Given the description of an element on the screen output the (x, y) to click on. 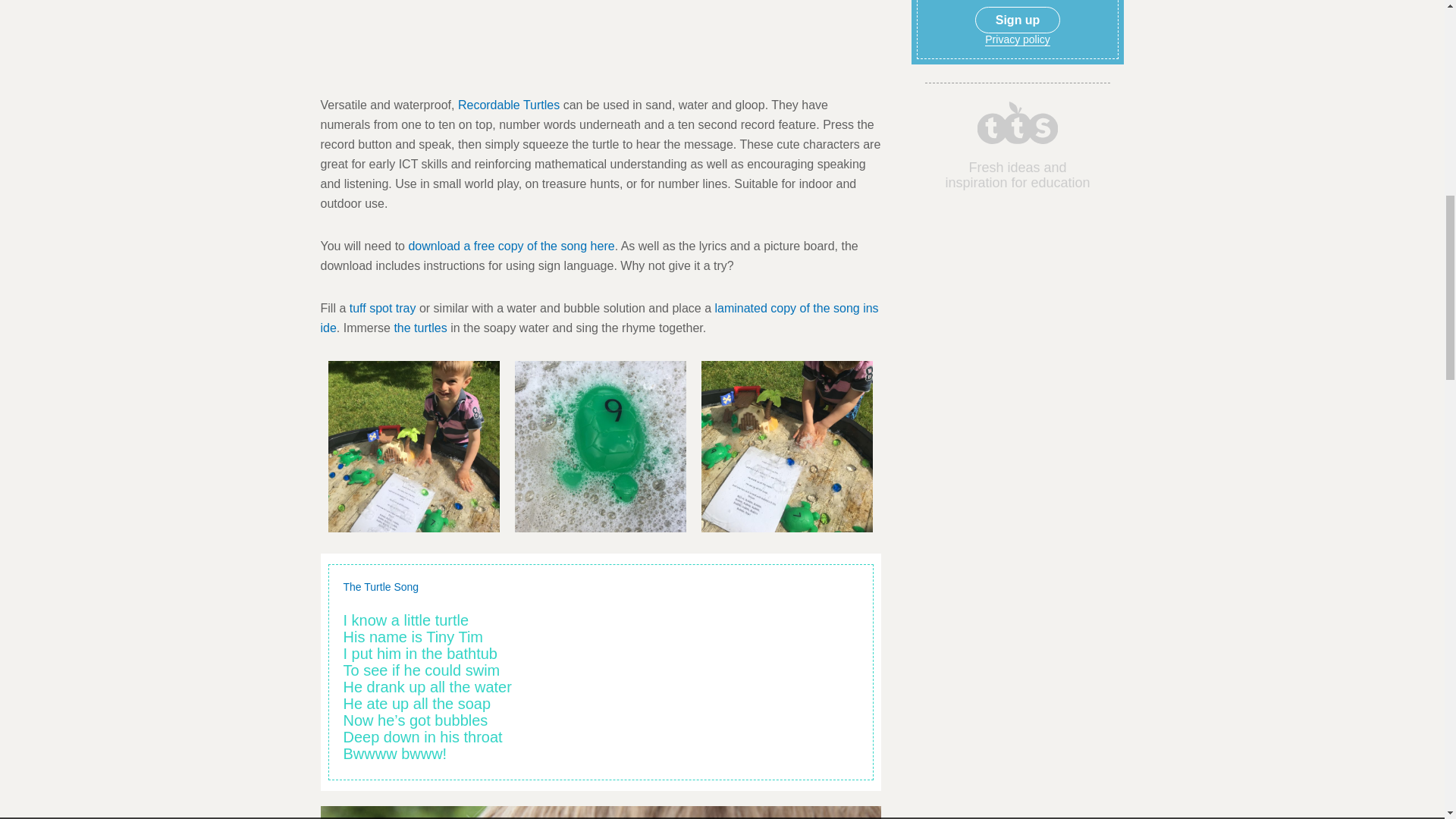
Sign up (1018, 19)
